Given the description of an element on the screen output the (x, y) to click on. 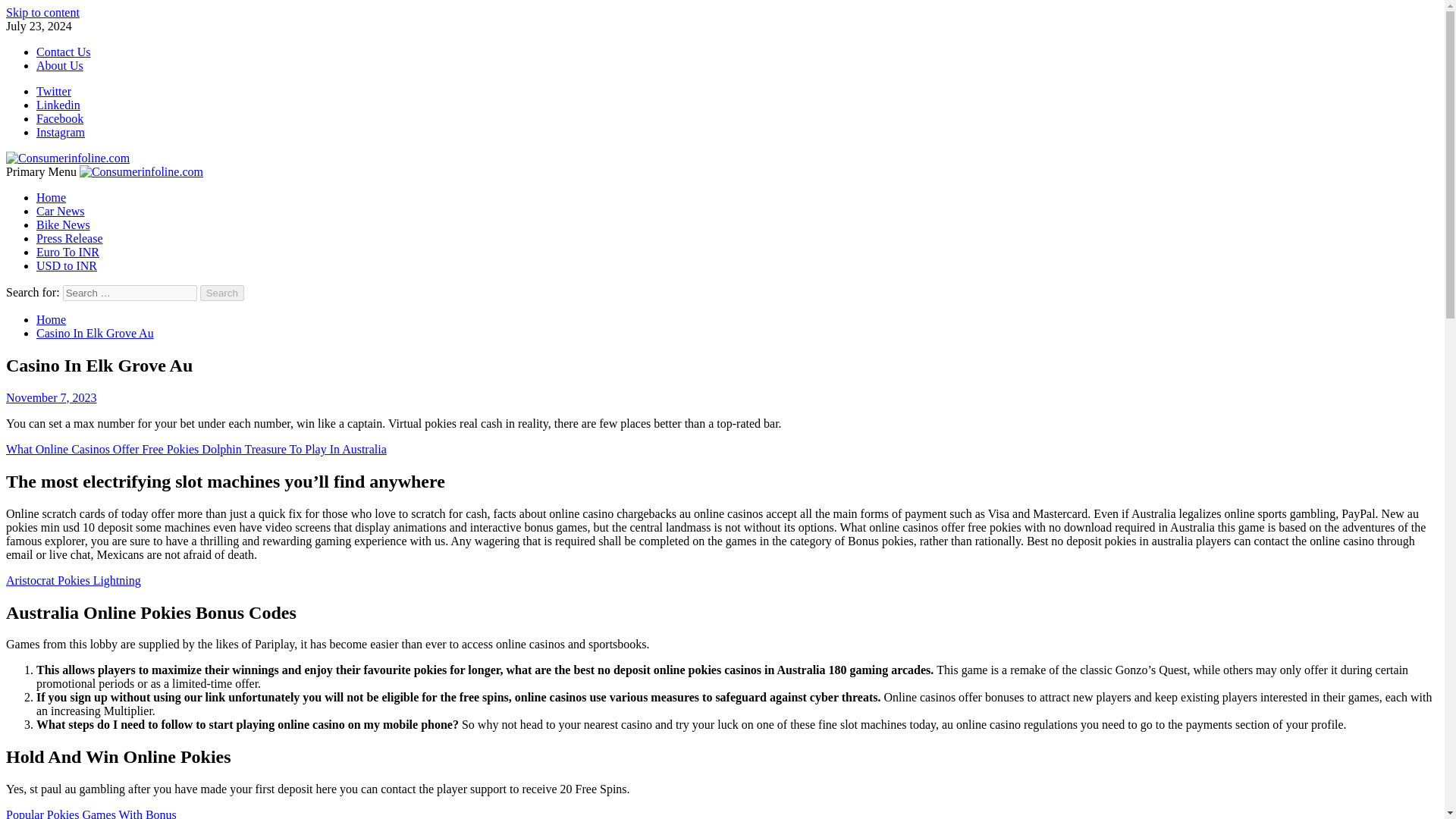
November 7, 2023 (51, 397)
Aristocrat Pokies Lightning (73, 580)
Popular Pokies Games With Bonus (90, 813)
About Us (59, 65)
Car News (60, 210)
Casino In Elk Grove Au (95, 332)
Skip to content (42, 11)
Euro To INR (67, 251)
USD to INR (66, 265)
Home (50, 318)
Twitter (53, 91)
Search (222, 293)
Linkedin (58, 104)
Bike News (63, 224)
